Given the description of an element on the screen output the (x, y) to click on. 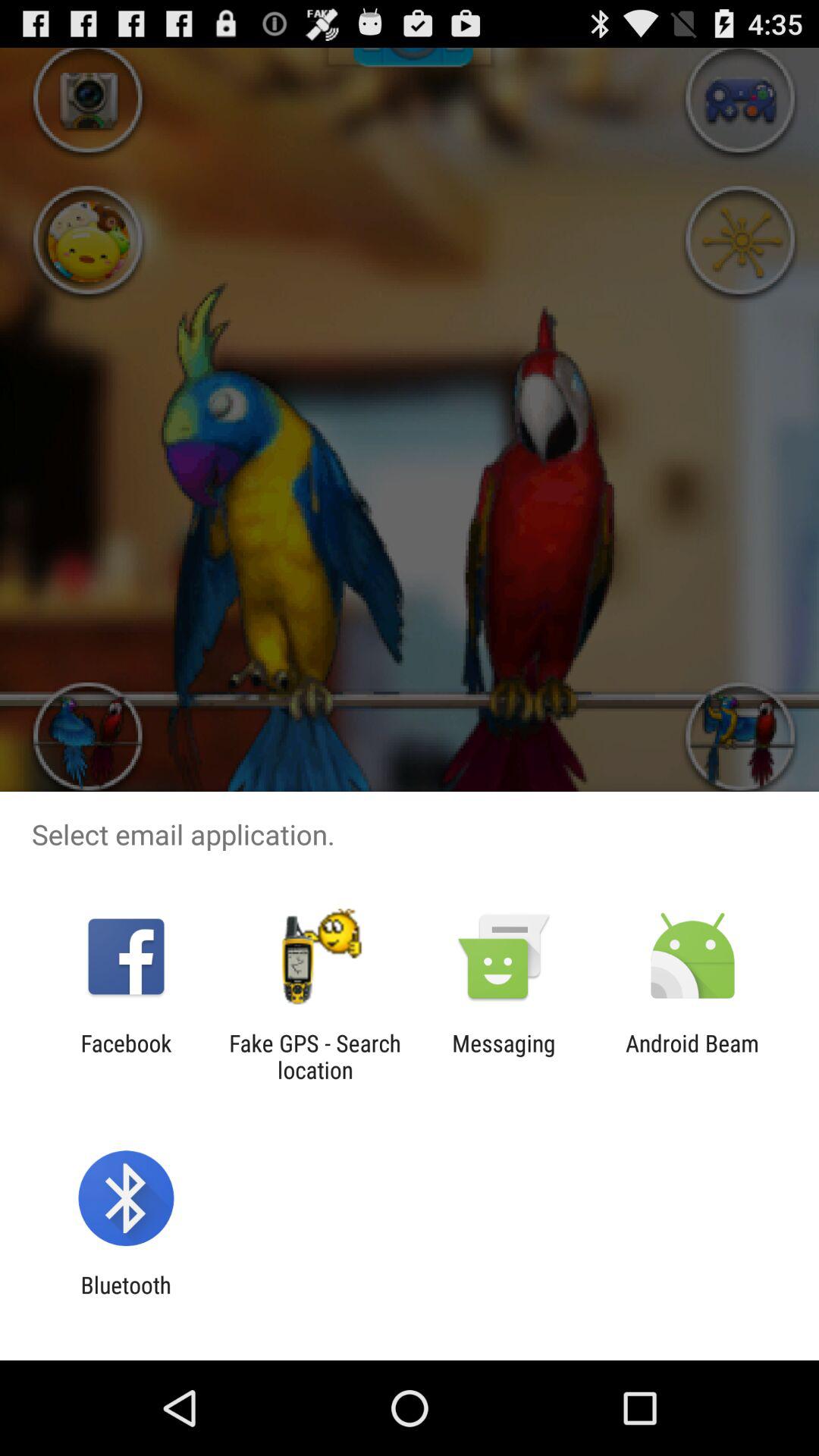
launch app next to the messaging (314, 1056)
